Given the description of an element on the screen output the (x, y) to click on. 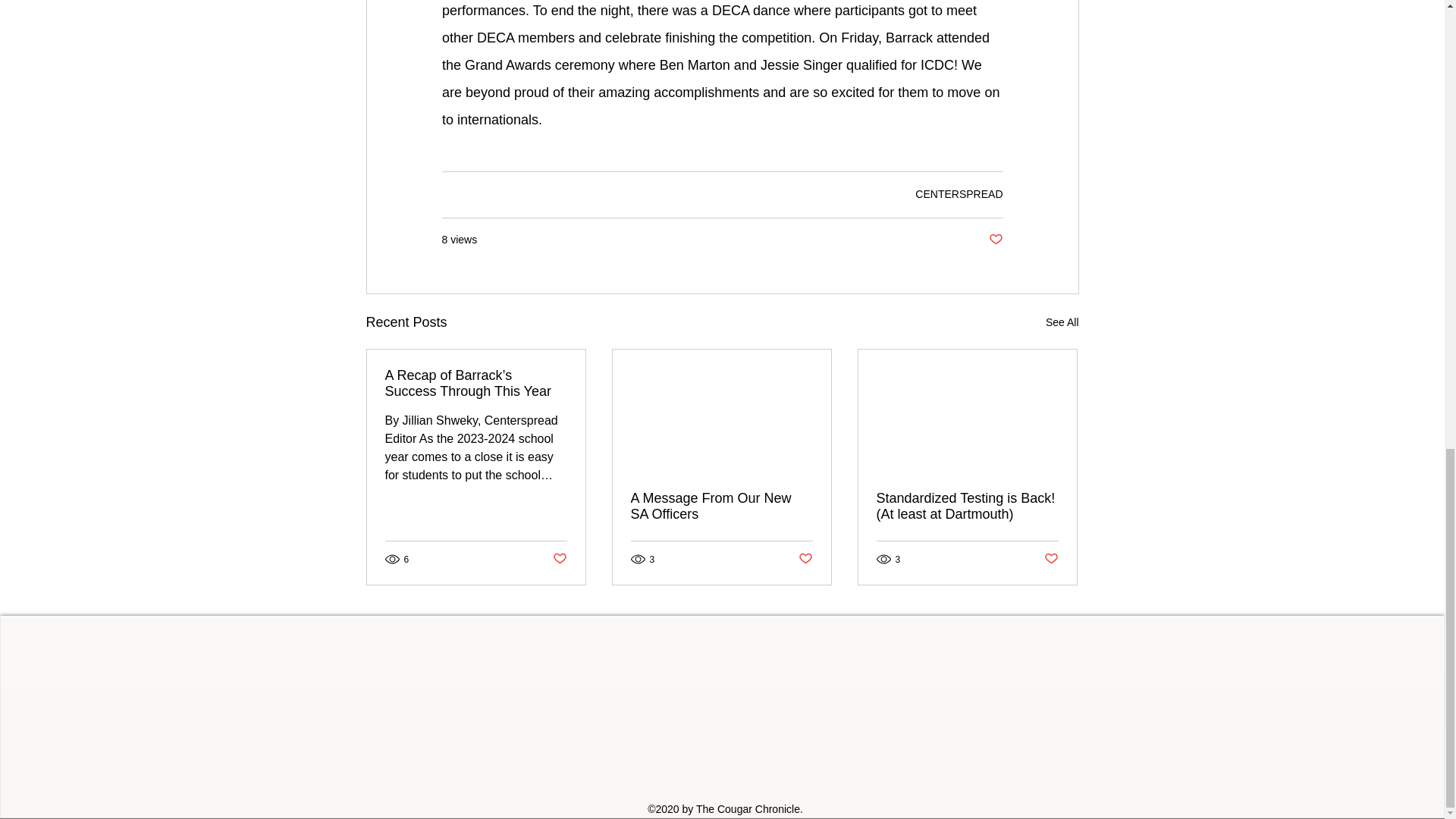
Post not marked as liked (1050, 559)
CENTERSPREAD (959, 193)
Post not marked as liked (804, 559)
See All (1061, 322)
Post not marked as liked (995, 239)
Post not marked as liked (558, 559)
A Message From Our New SA Officers (721, 506)
